Given the description of an element on the screen output the (x, y) to click on. 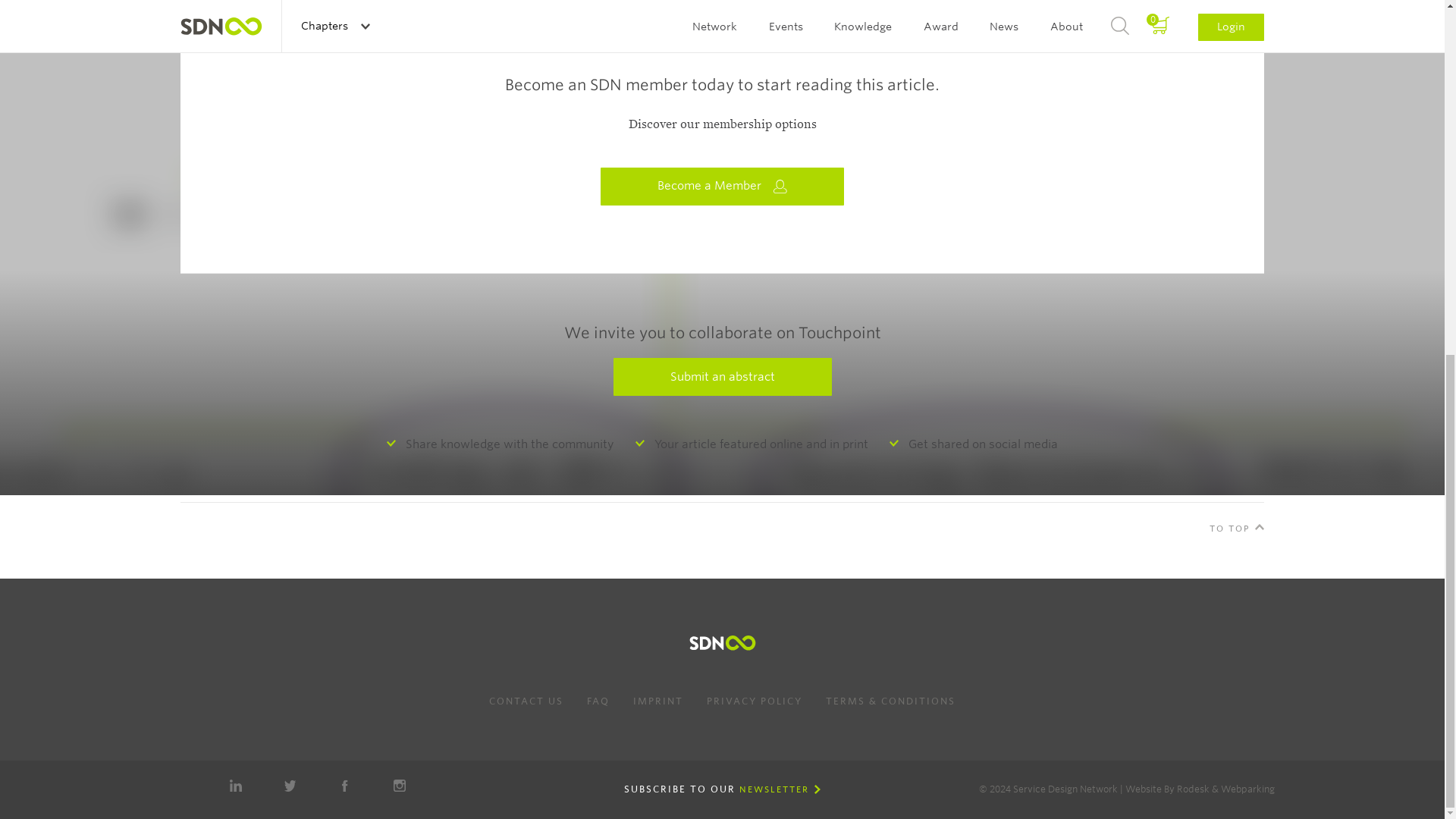
FAQ (598, 701)
Contact us (526, 701)
Imprint (657, 701)
Privacy Policy (754, 701)
